Given the description of an element on the screen output the (x, y) to click on. 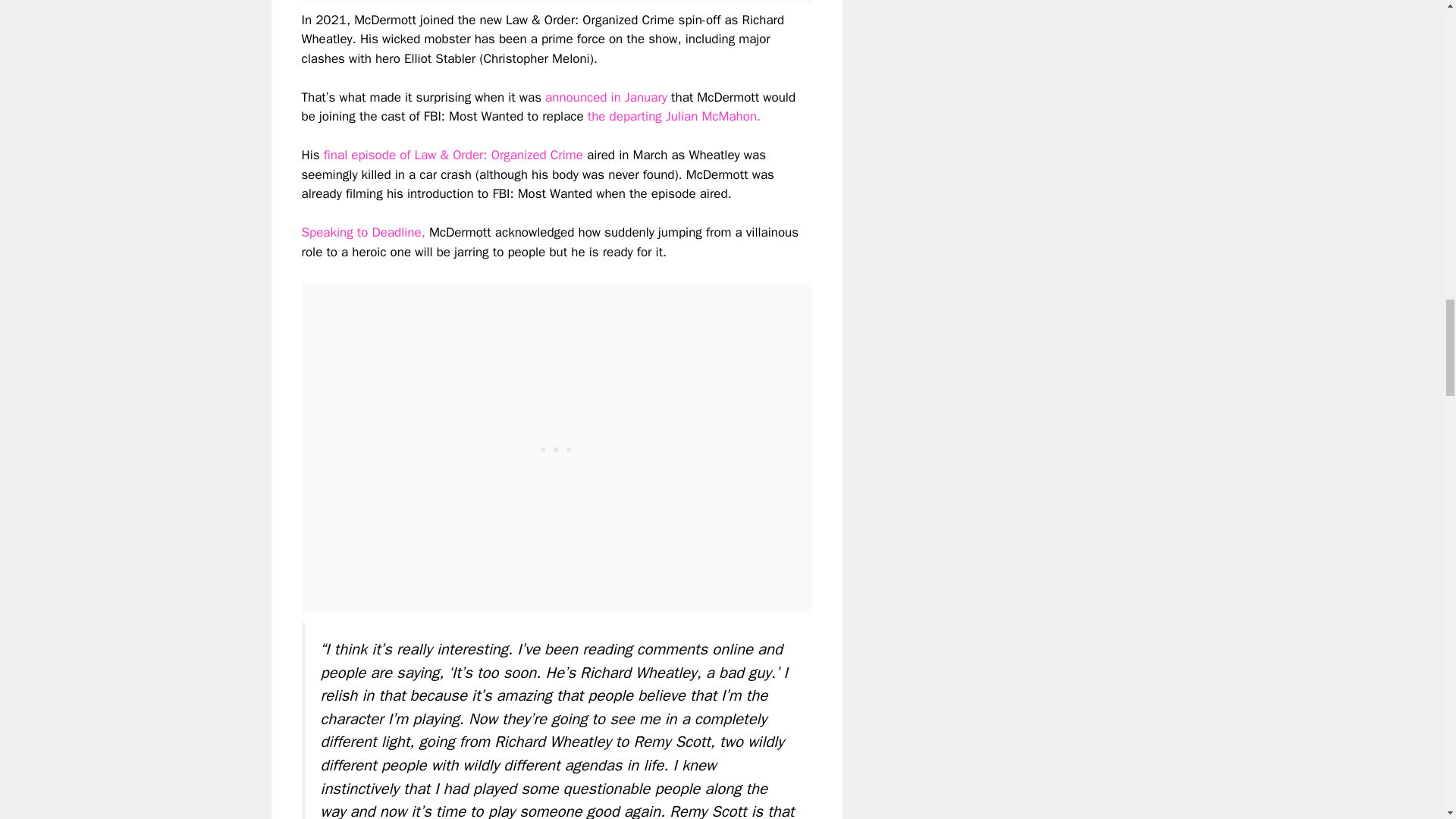
announced in January (605, 97)
the departing Julian McMahon.  (676, 116)
Speaking to Deadline, (363, 232)
